Given the description of an element on the screen output the (x, y) to click on. 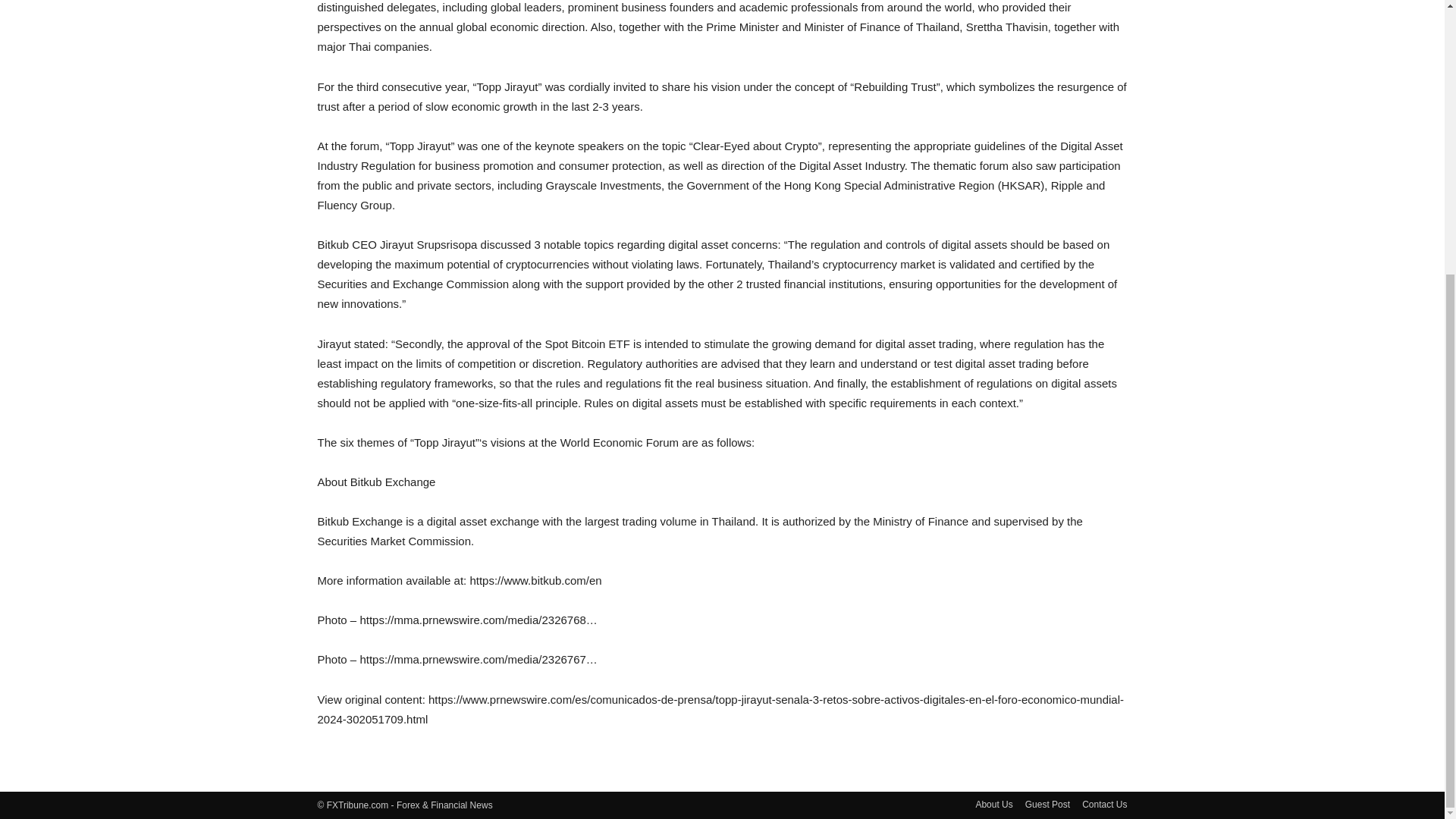
About Us (993, 804)
Guest Post (1047, 804)
Contact Us (1103, 804)
